Given the description of an element on the screen output the (x, y) to click on. 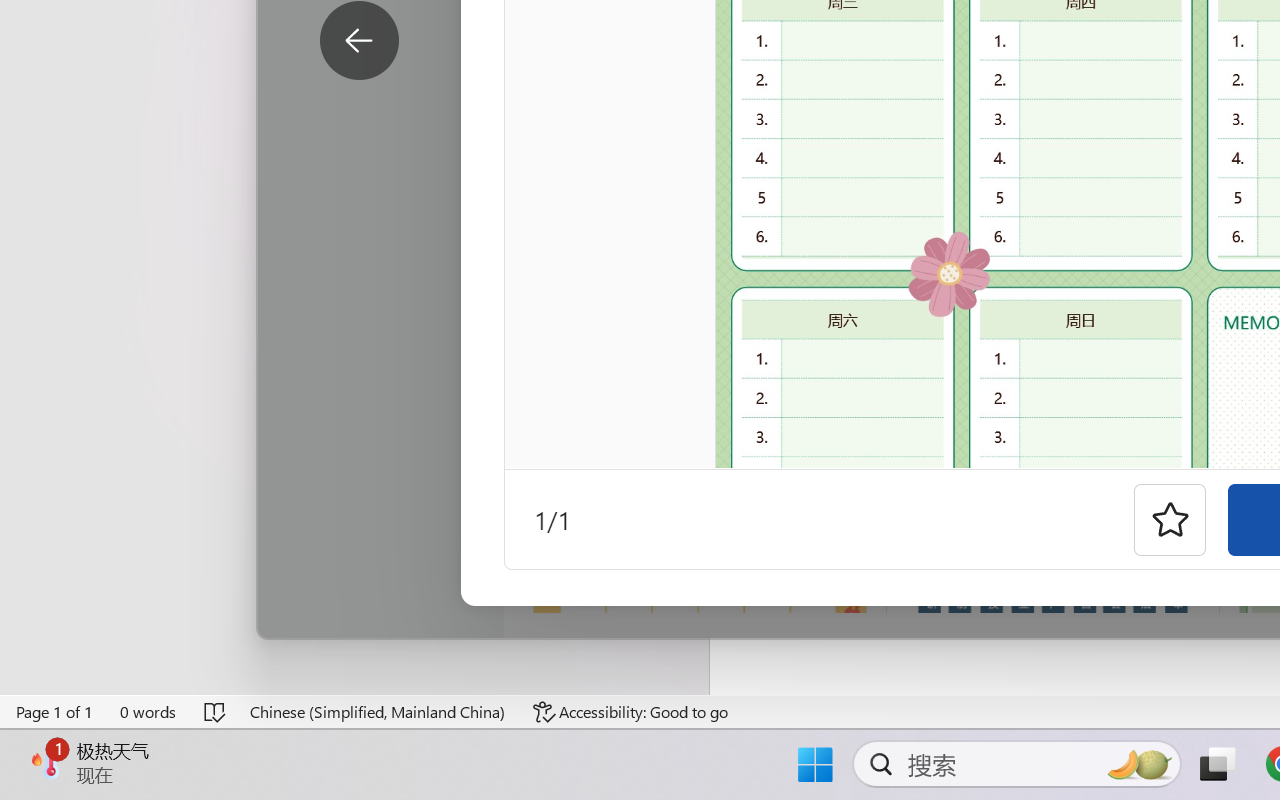
Language Chinese (Simplified, Mainland China) (378, 712)
